Given the description of an element on the screen output the (x, y) to click on. 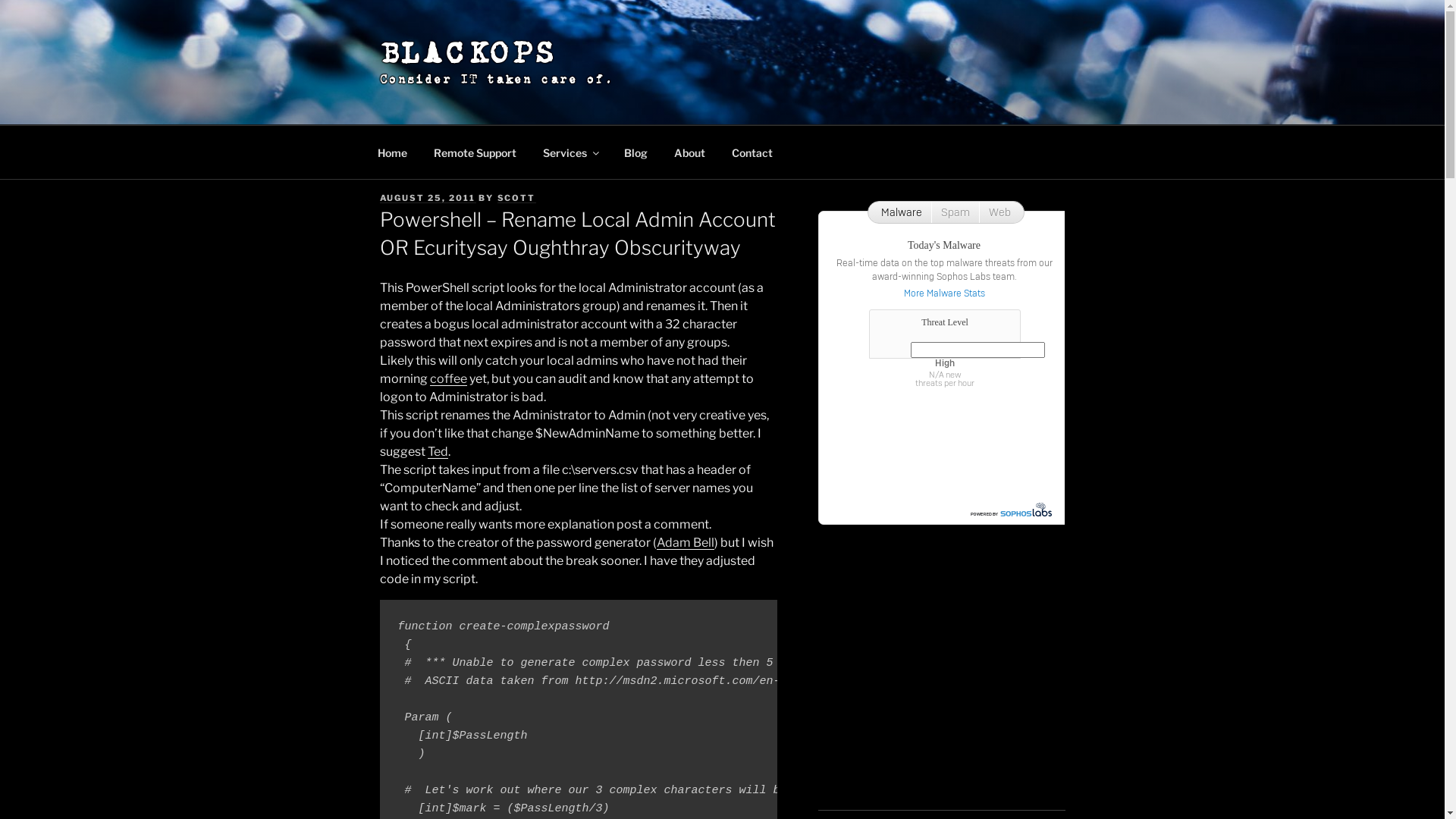
Adam Bell Element type: text (685, 542)
About Element type: text (689, 151)
Ted Element type: text (437, 451)
Blog Element type: text (636, 151)
coffee Element type: text (447, 378)
SCOTT Element type: text (516, 197)
Remote Support Element type: text (474, 151)
Home Element type: text (392, 151)
Services Element type: text (569, 151)
AUGUST 25, 2011 Element type: text (427, 197)
Contact Element type: text (752, 151)
BLACKOPS Element type: text (468, 53)
